Given the description of an element on the screen output the (x, y) to click on. 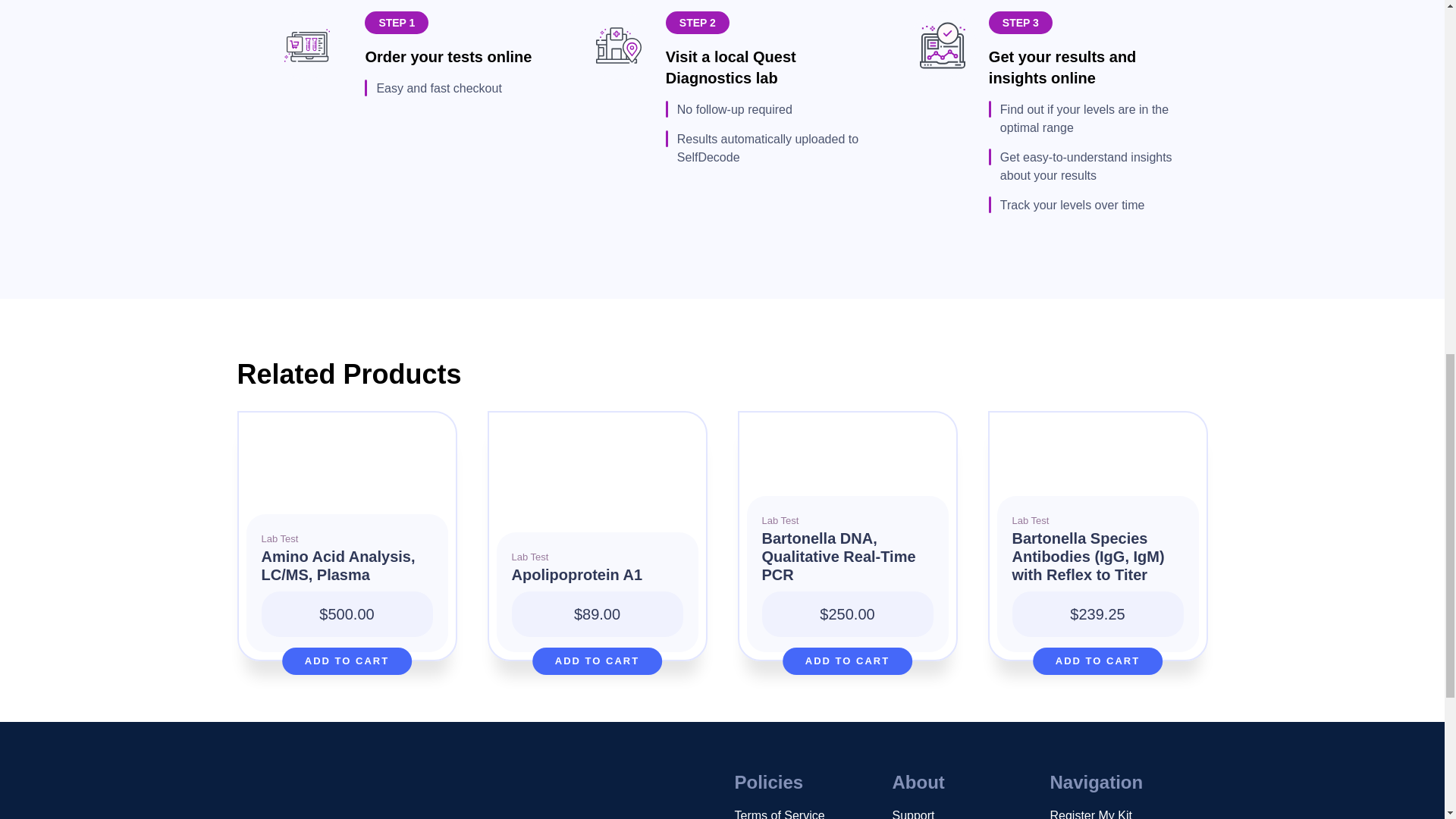
ADD TO CART (1097, 660)
Support (912, 813)
ADD TO CART (847, 660)
Apolipoprotein A1 (596, 582)
Terms of Service (778, 813)
ADD TO CART (597, 660)
Bartonella DNA, Qualitative Real-Time PCR (847, 564)
ADD TO CART (347, 660)
